Given the description of an element on the screen output the (x, y) to click on. 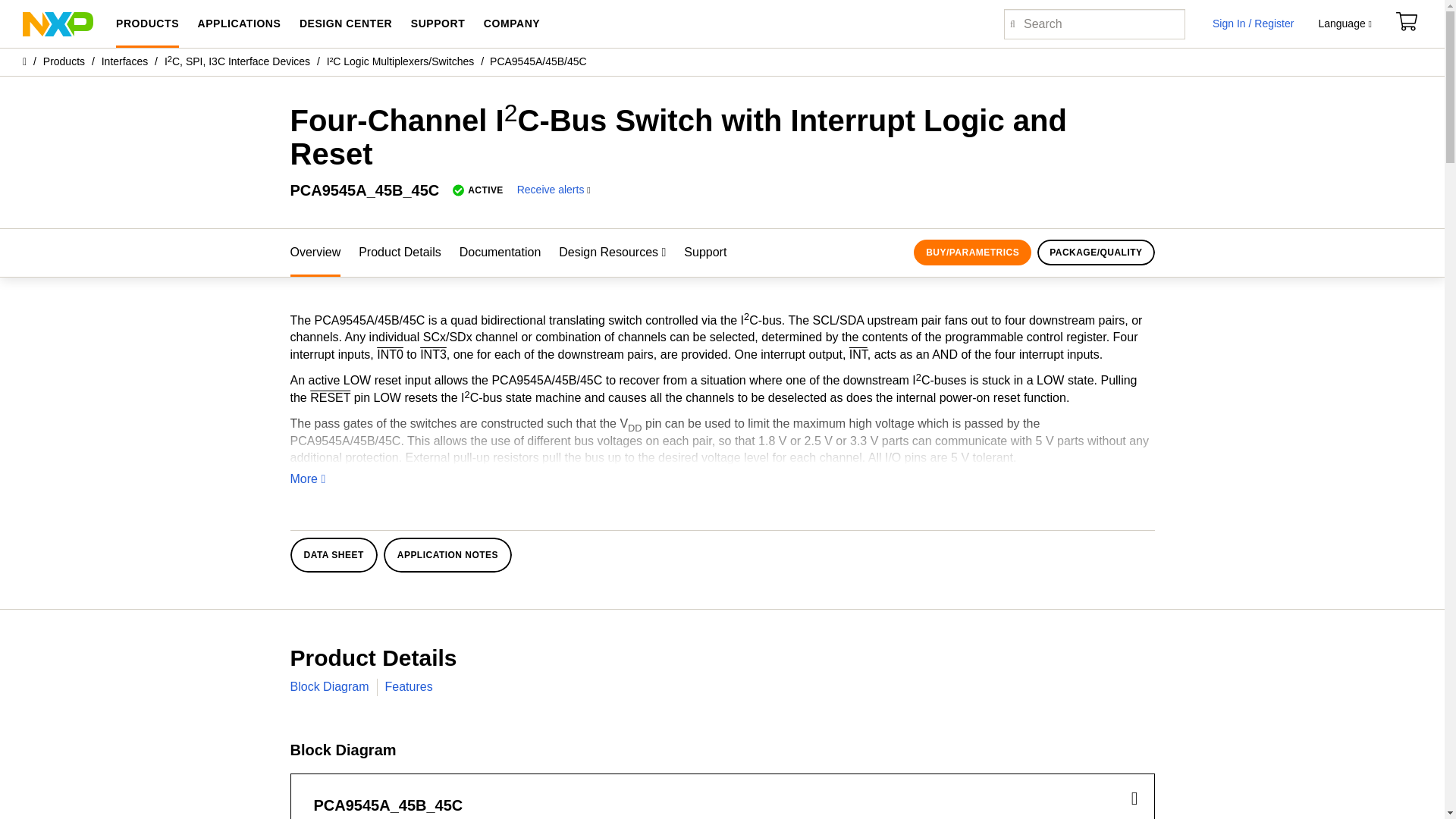
SUPPORT (437, 23)
DESIGN CENTER (345, 23)
Language  (1344, 23)
COMPANY (511, 23)
NXP Semiconductor (58, 23)
APPLICATIONS (238, 23)
PRODUCTS (147, 23)
